Given the description of an element on the screen output the (x, y) to click on. 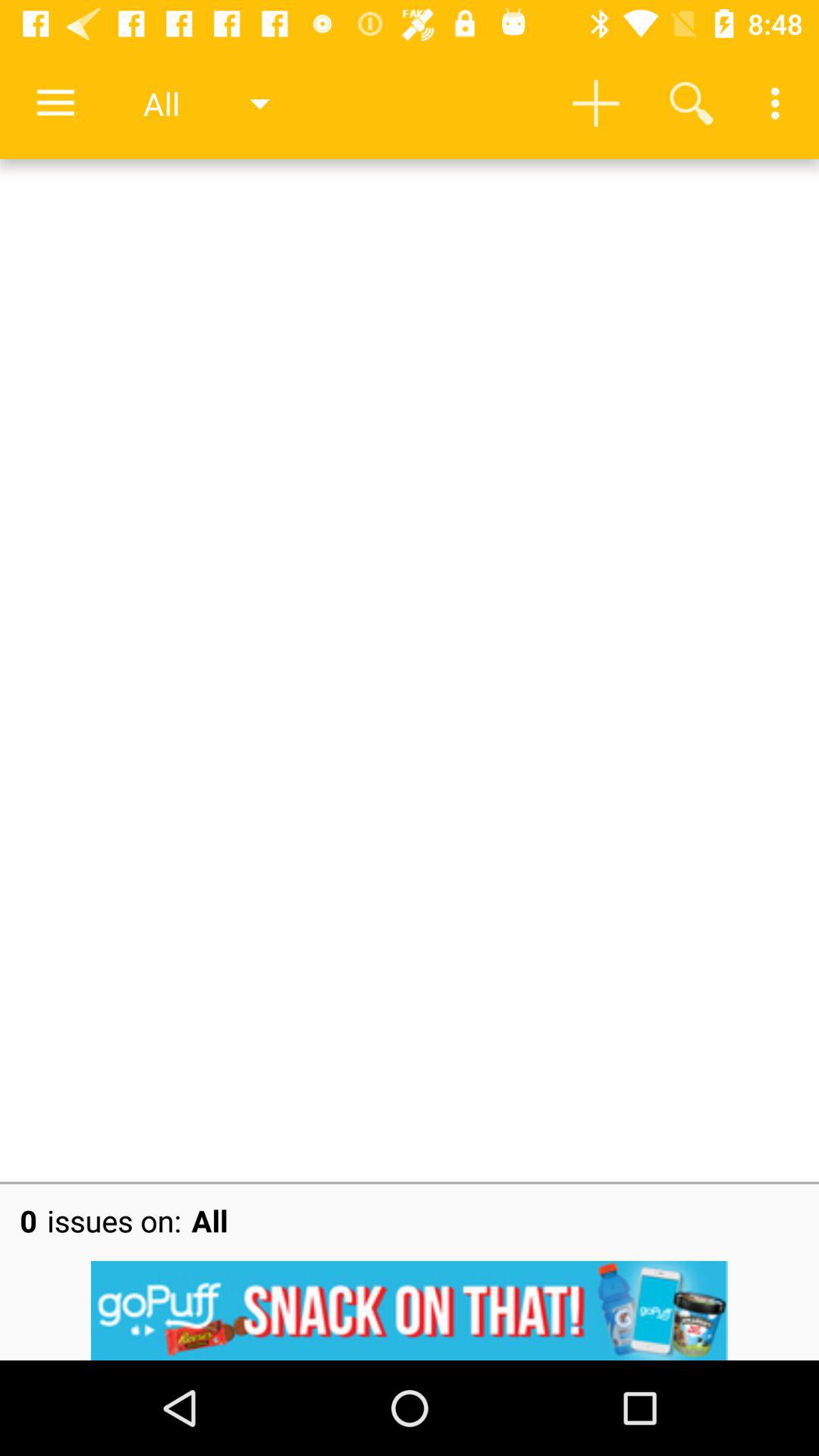
know about the advertisement (409, 1310)
